Given the description of an element on the screen output the (x, y) to click on. 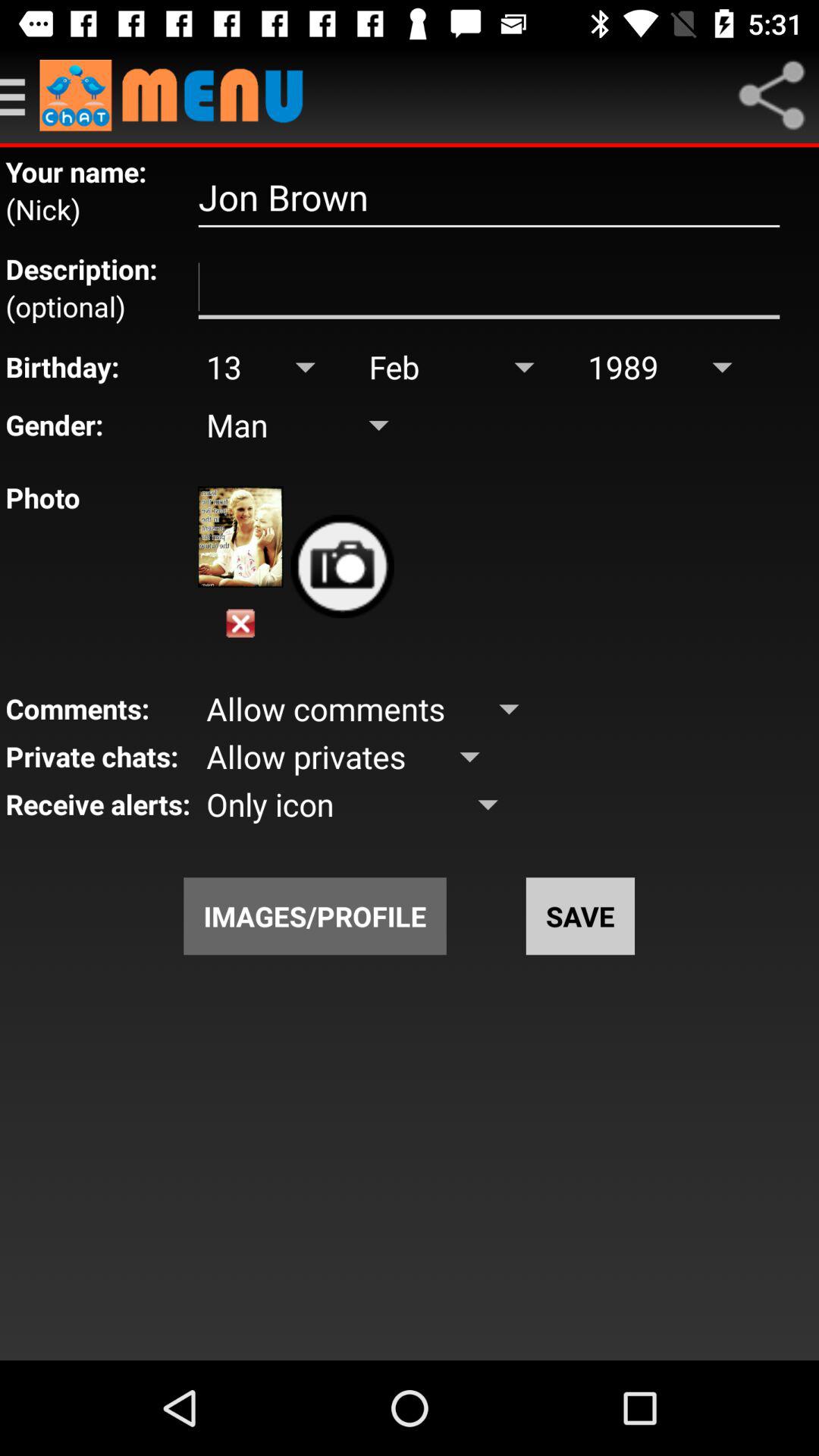
text field (488, 287)
